Given the description of an element on the screen output the (x, y) to click on. 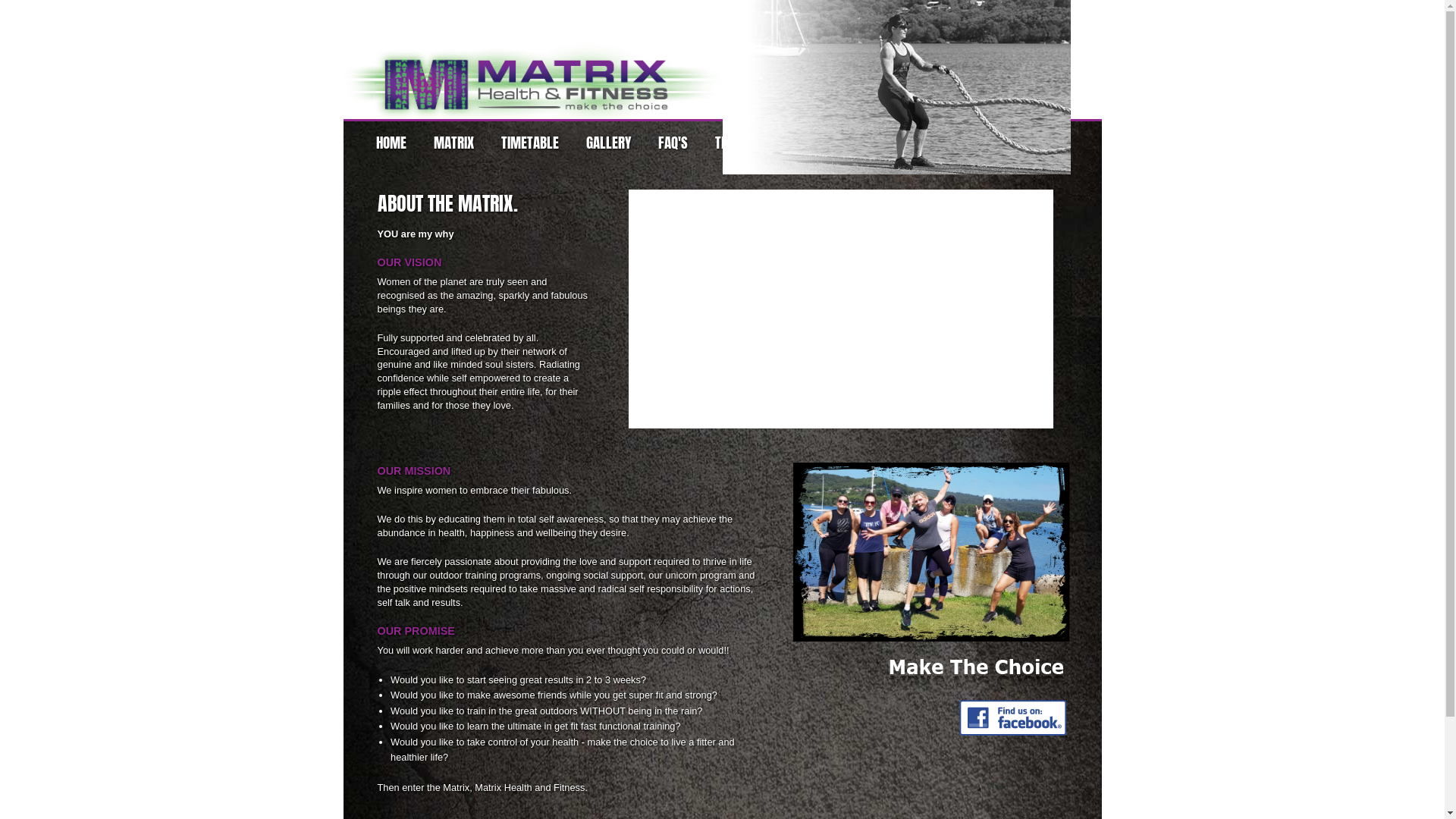
MY STORY Element type: text (843, 142)
YouTube video player Element type: hover (840, 308)
FAQ'S Element type: text (672, 142)
TESTIMONIALS Element type: text (751, 142)
GALLERY Element type: text (607, 142)
Home... Element type: hover (531, 58)
HOME Element type: text (391, 142)
TIMETABLE Element type: text (528, 142)
MATRIX Element type: text (453, 142)
CONTACT US Element type: text (927, 142)
